Given the description of an element on the screen output the (x, y) to click on. 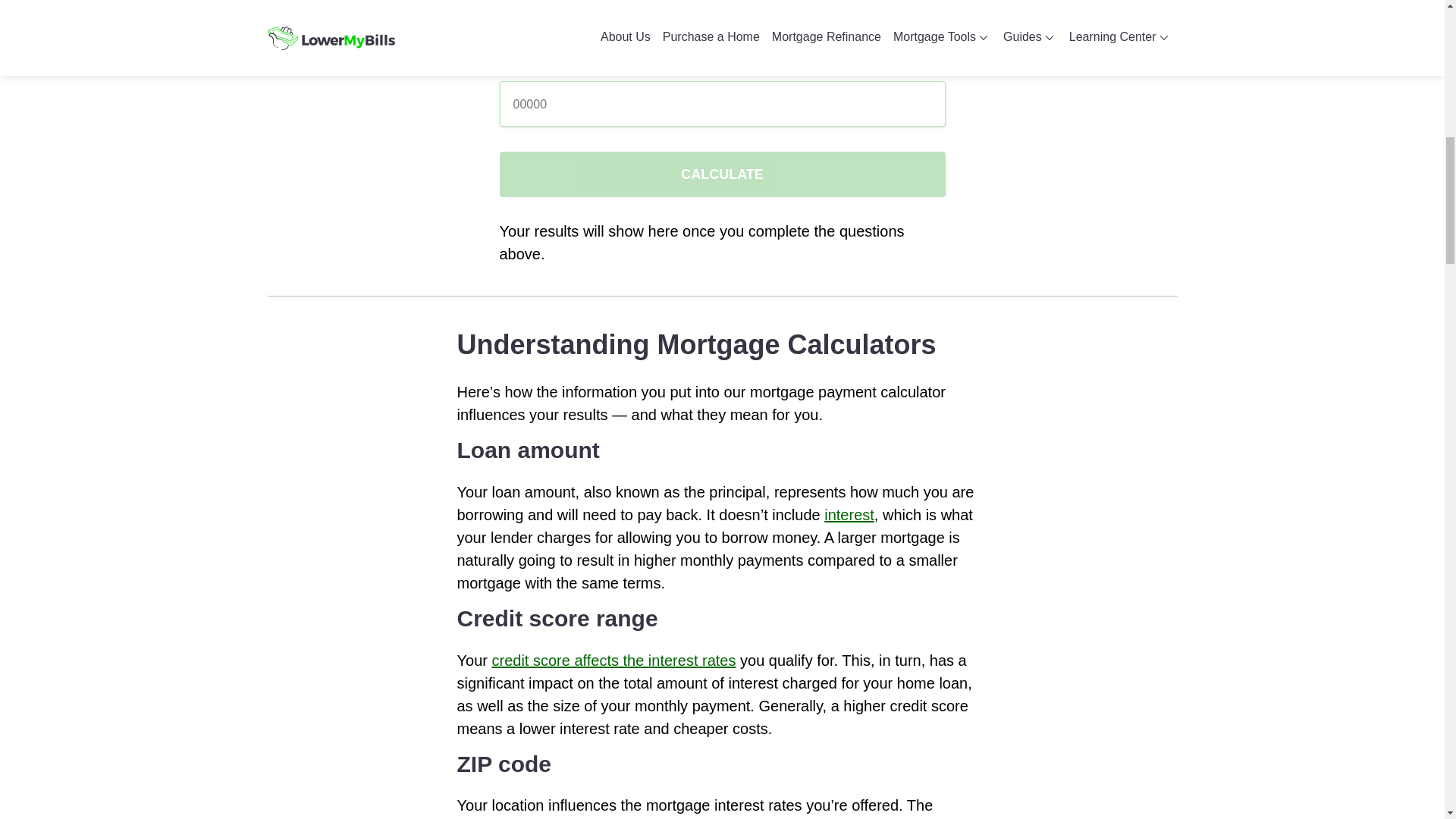
CALCULATE (721, 174)
credit score affects the interest rates (613, 660)
interest (849, 514)
